Given the description of an element on the screen output the (x, y) to click on. 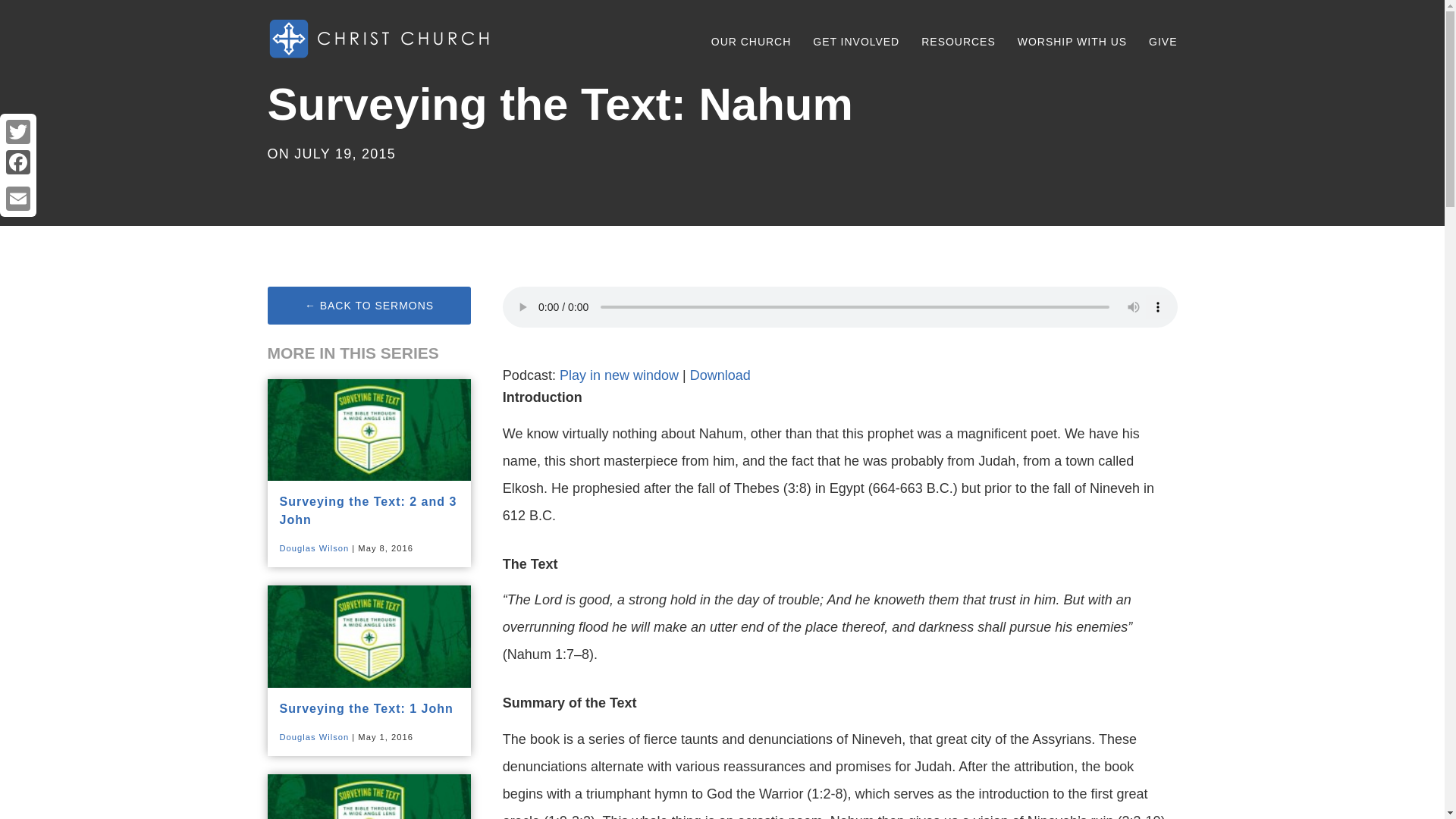
Email (17, 198)
Facebook (17, 162)
RESOURCES (958, 36)
Surveying the Text: 2 and 3 John (368, 510)
Christ Church (380, 38)
Twitter (17, 132)
Download (720, 375)
Douglas Wilson (314, 547)
WORSHIP WITH US (1071, 36)
